Given the description of an element on the screen output the (x, y) to click on. 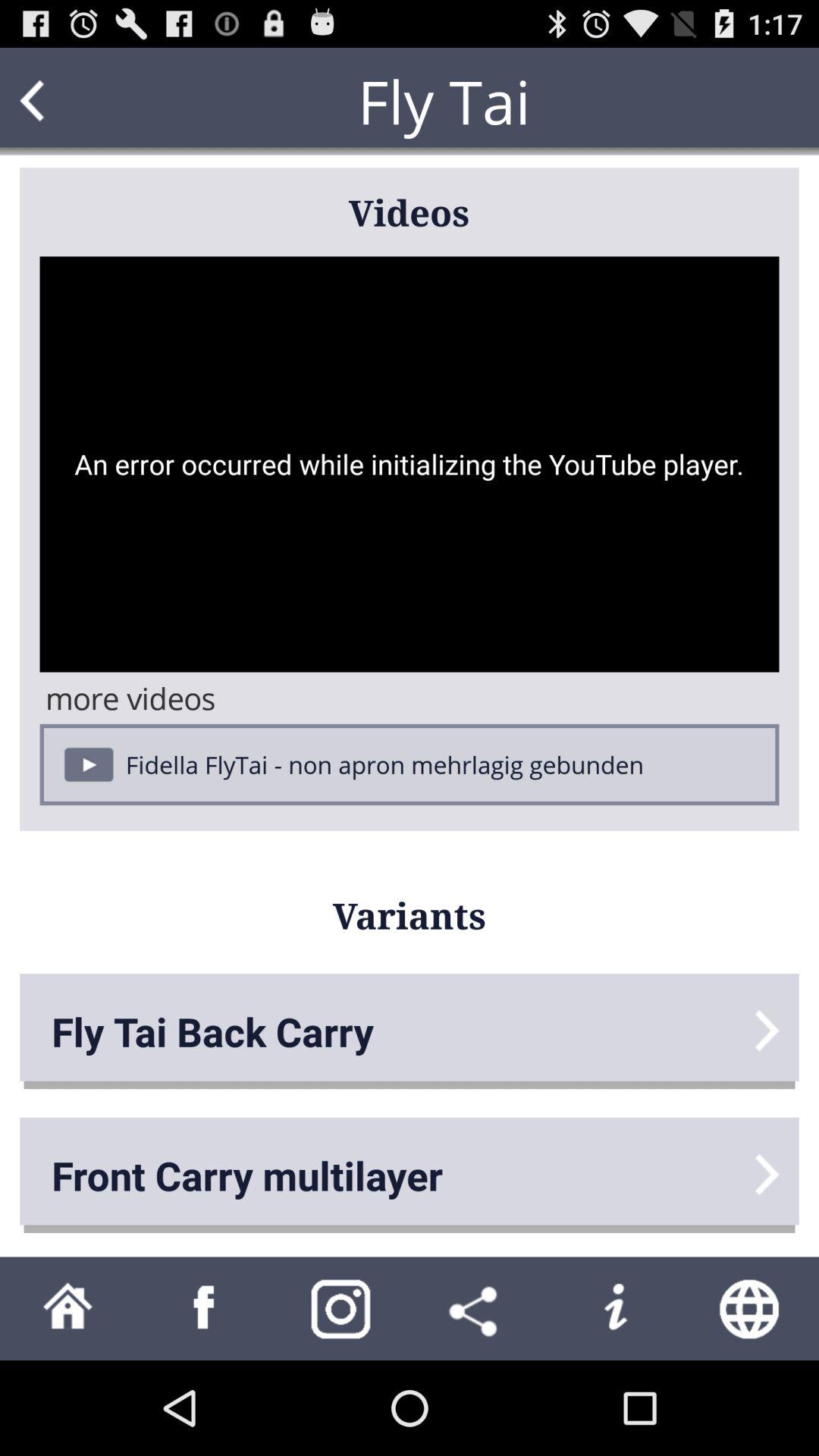
open icon above an error occurred item (61, 101)
